Given the description of an element on the screen output the (x, y) to click on. 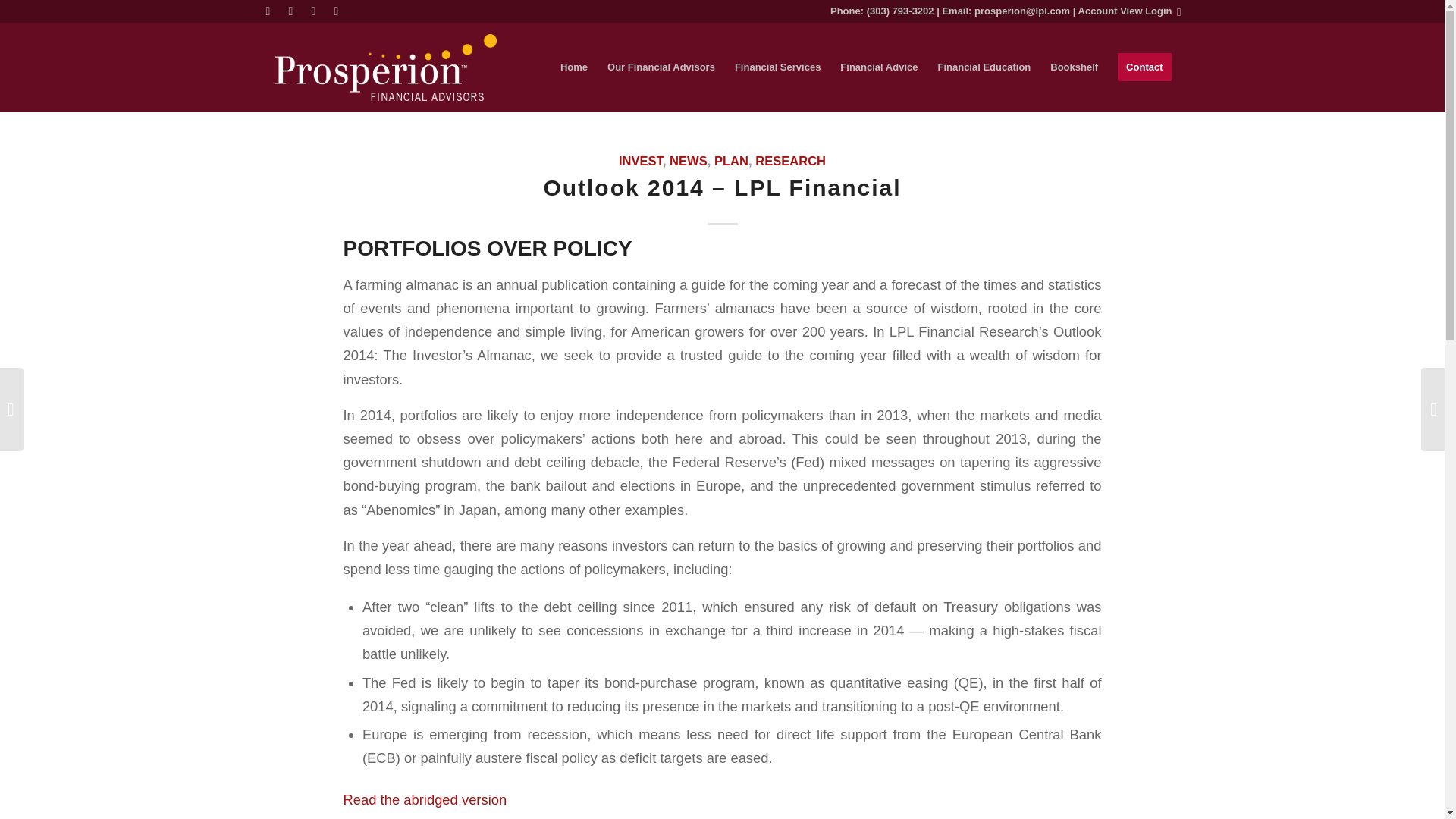
Youtube (312, 11)
Financial Services (777, 67)
Mail (335, 11)
Financial Advice (878, 67)
whitelogosized (385, 67)
Account View Login (1125, 10)
Financial Education (984, 67)
Facebook (267, 11)
LinkedIn (290, 11)
Our Financial Advisors (660, 67)
